Given the description of an element on the screen output the (x, y) to click on. 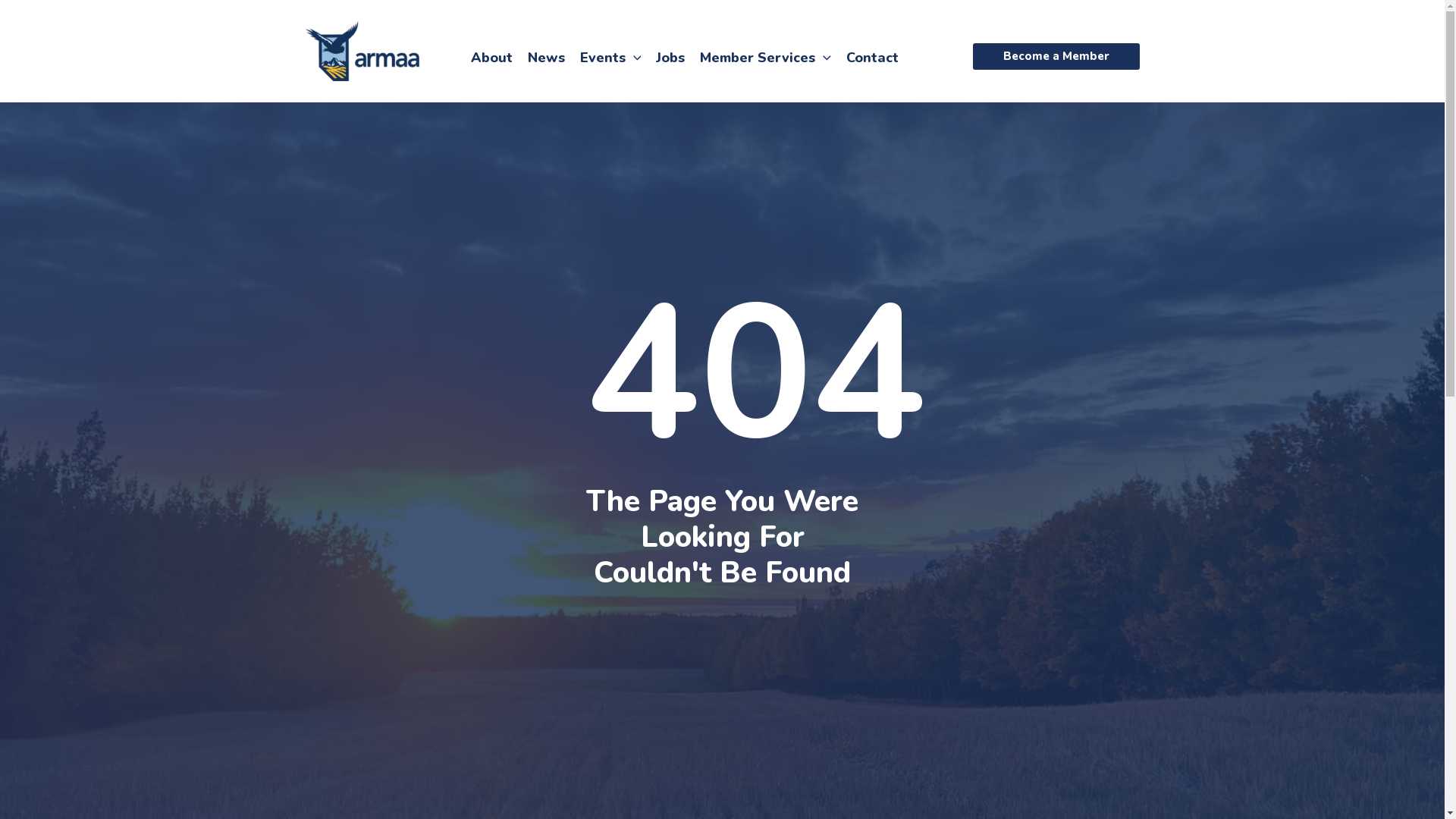
Member Services Element type: text (765, 56)
Become a Member Element type: text (1055, 56)
Events Element type: text (609, 56)
Contact Element type: text (872, 56)
News Element type: text (546, 56)
Jobs Element type: text (670, 56)
About Element type: text (490, 56)
